Given the description of an element on the screen output the (x, y) to click on. 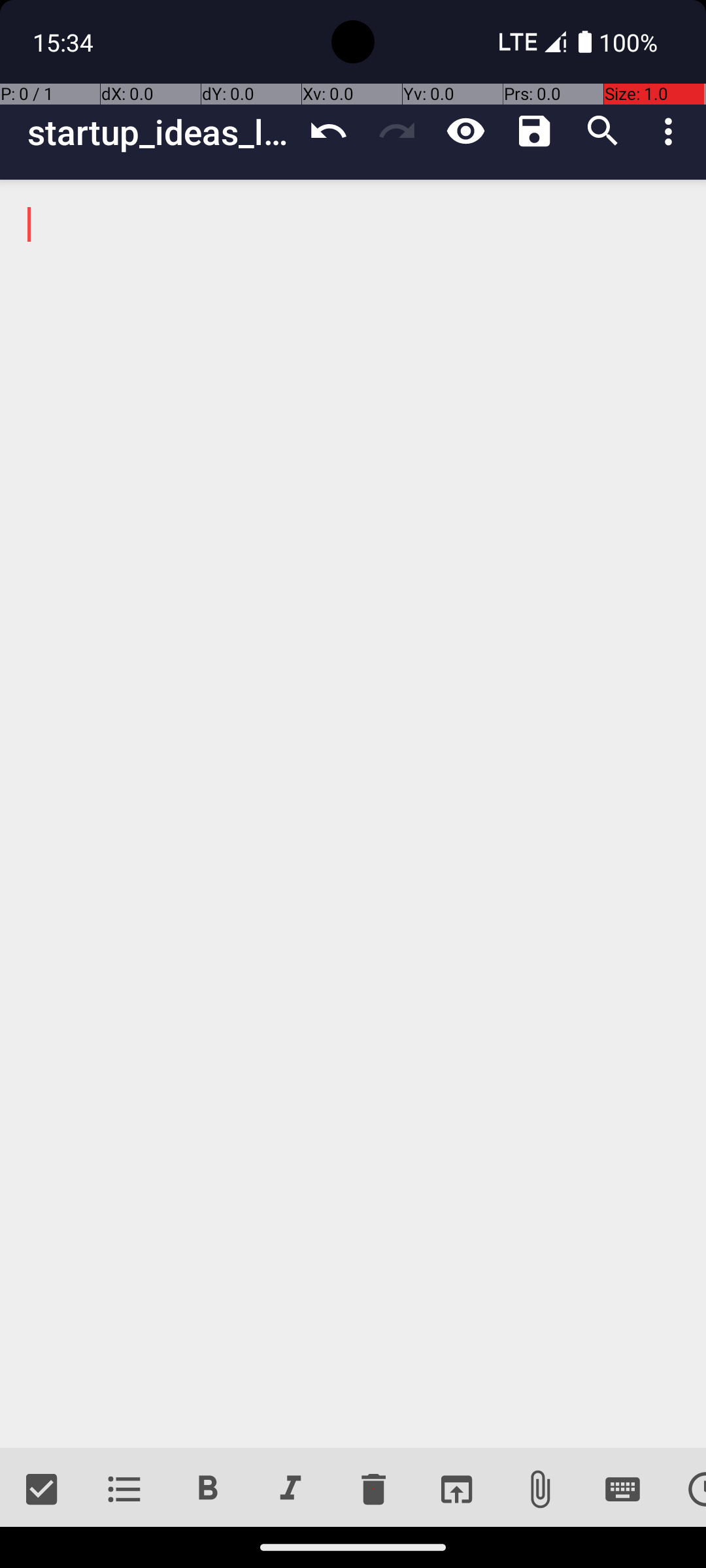
startup_ideas_launch_dqJ3 Element type: android.widget.TextView (160, 131)
